Given the description of an element on the screen output the (x, y) to click on. 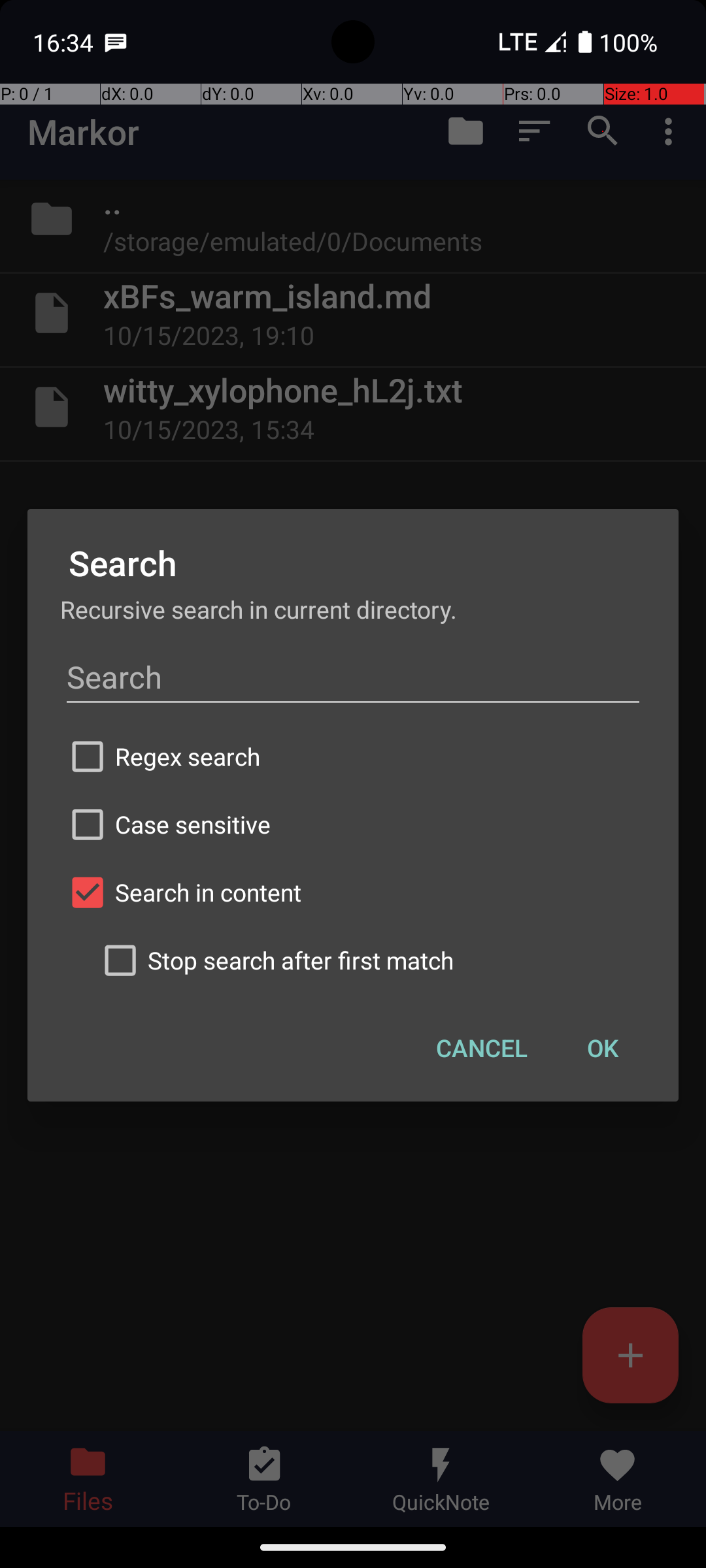
Stop search after first match Element type: android.widget.CheckBox (368, 959)
16:34 Element type: android.widget.TextView (64, 41)
